Given the description of an element on the screen output the (x, y) to click on. 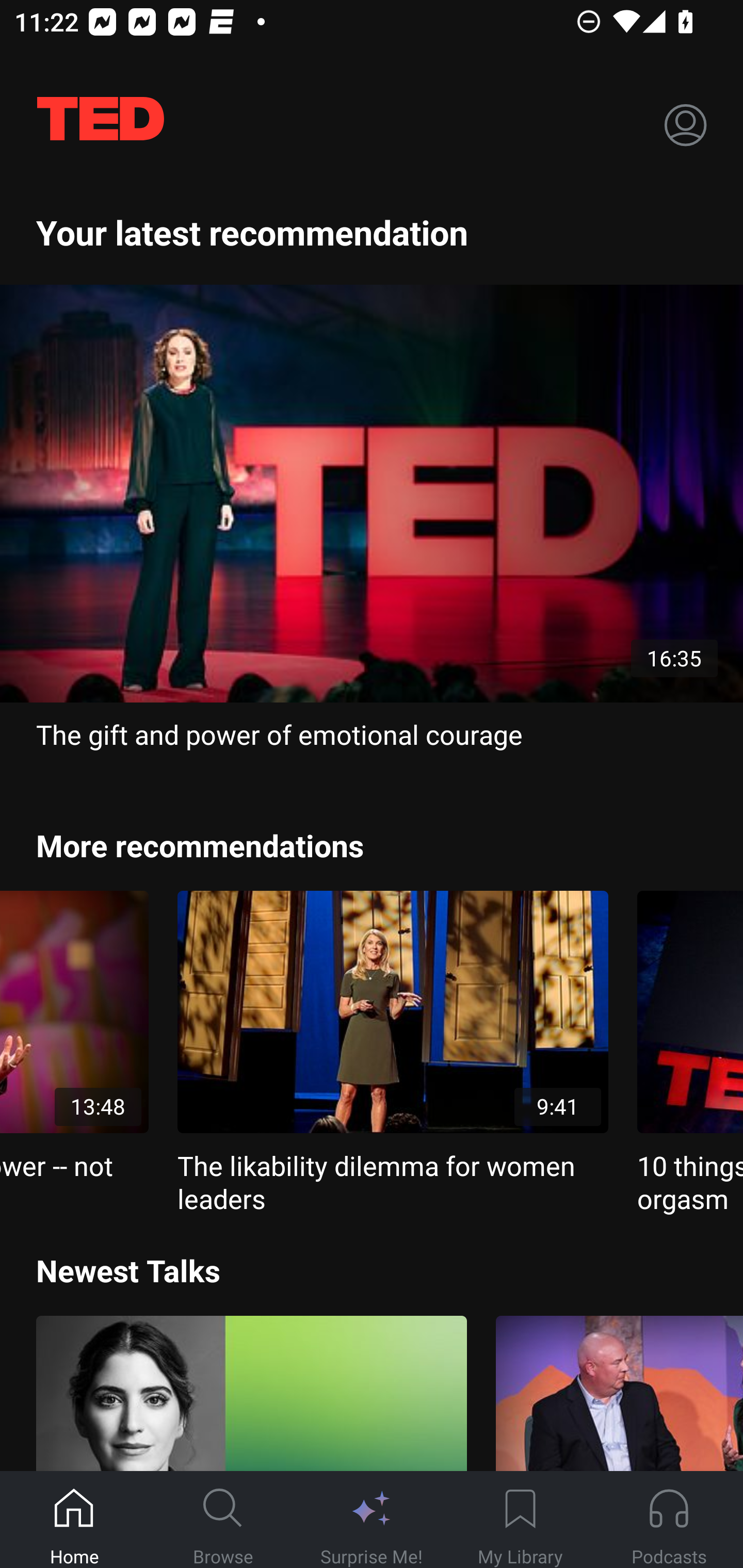
9:41 The likability dilemma for women leaders (392, 1053)
Home (74, 1520)
Browse (222, 1520)
Surprise Me! (371, 1520)
My Library (519, 1520)
Podcasts (668, 1520)
